Given the description of an element on the screen output the (x, y) to click on. 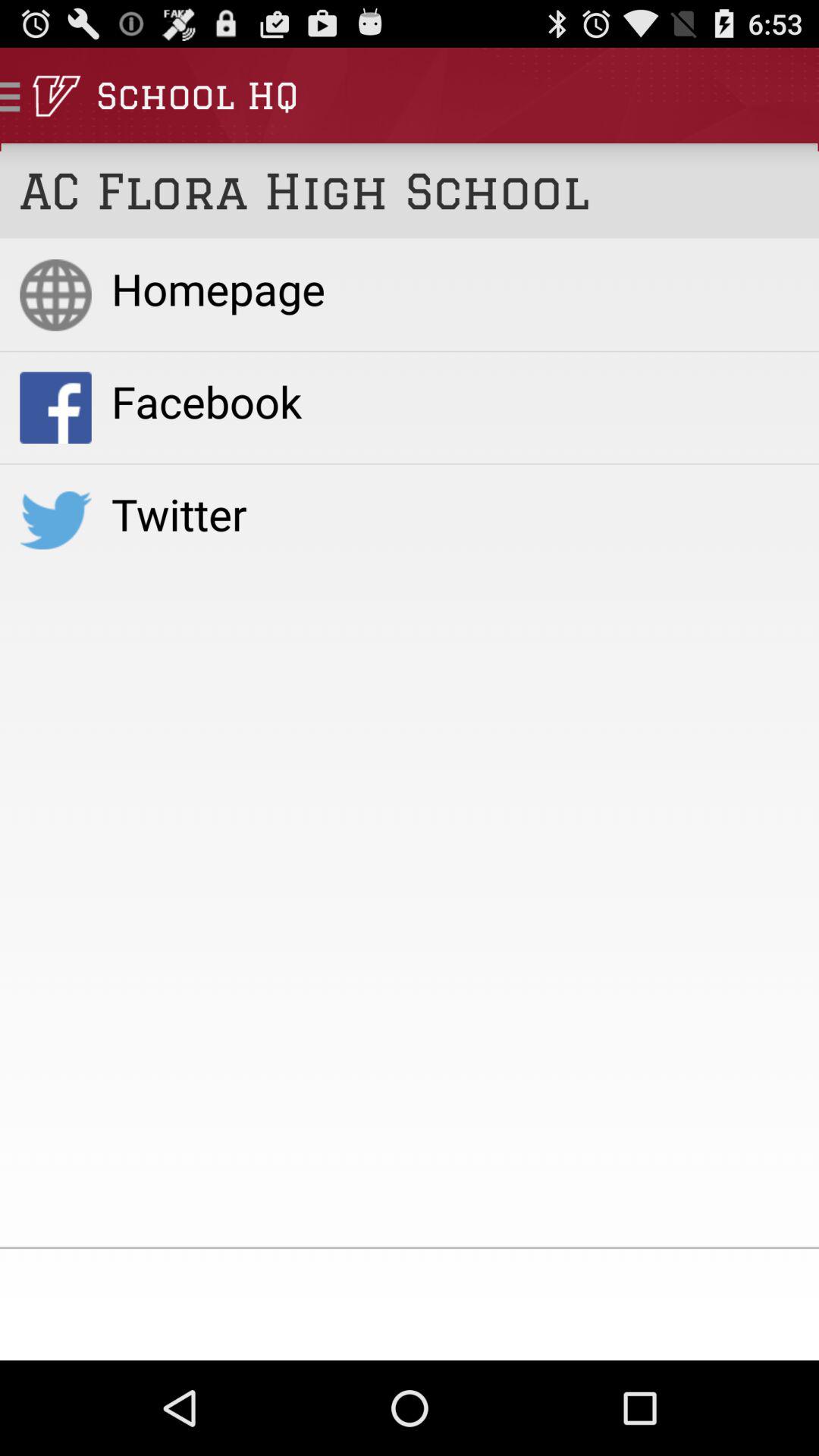
swipe until homepage item (455, 288)
